Given the description of an element on the screen output the (x, y) to click on. 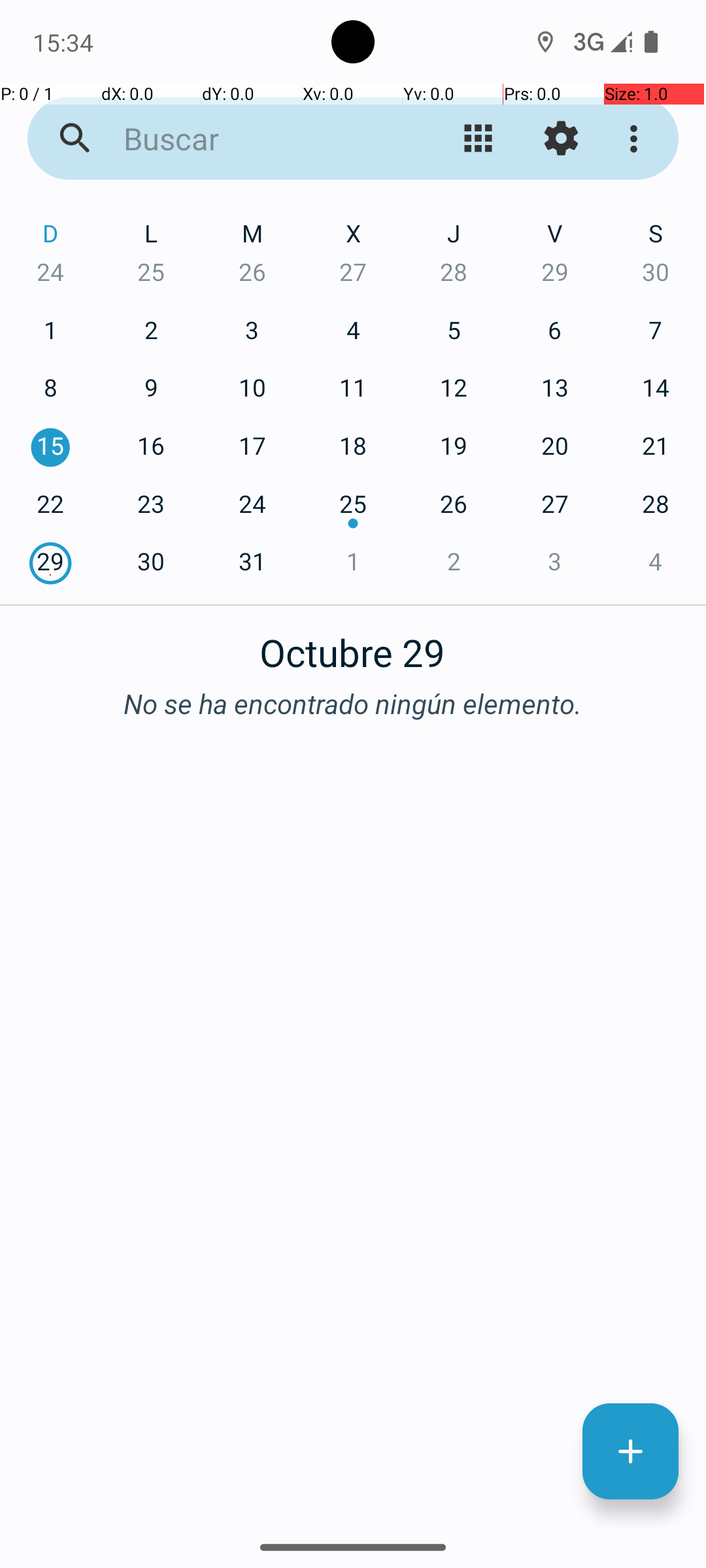
Octubre 29 Element type: android.widget.TextView (352, 644)
No se ha encontrado ningún elemento. Element type: android.widget.TextView (352, 702)
